Given the description of an element on the screen output the (x, y) to click on. 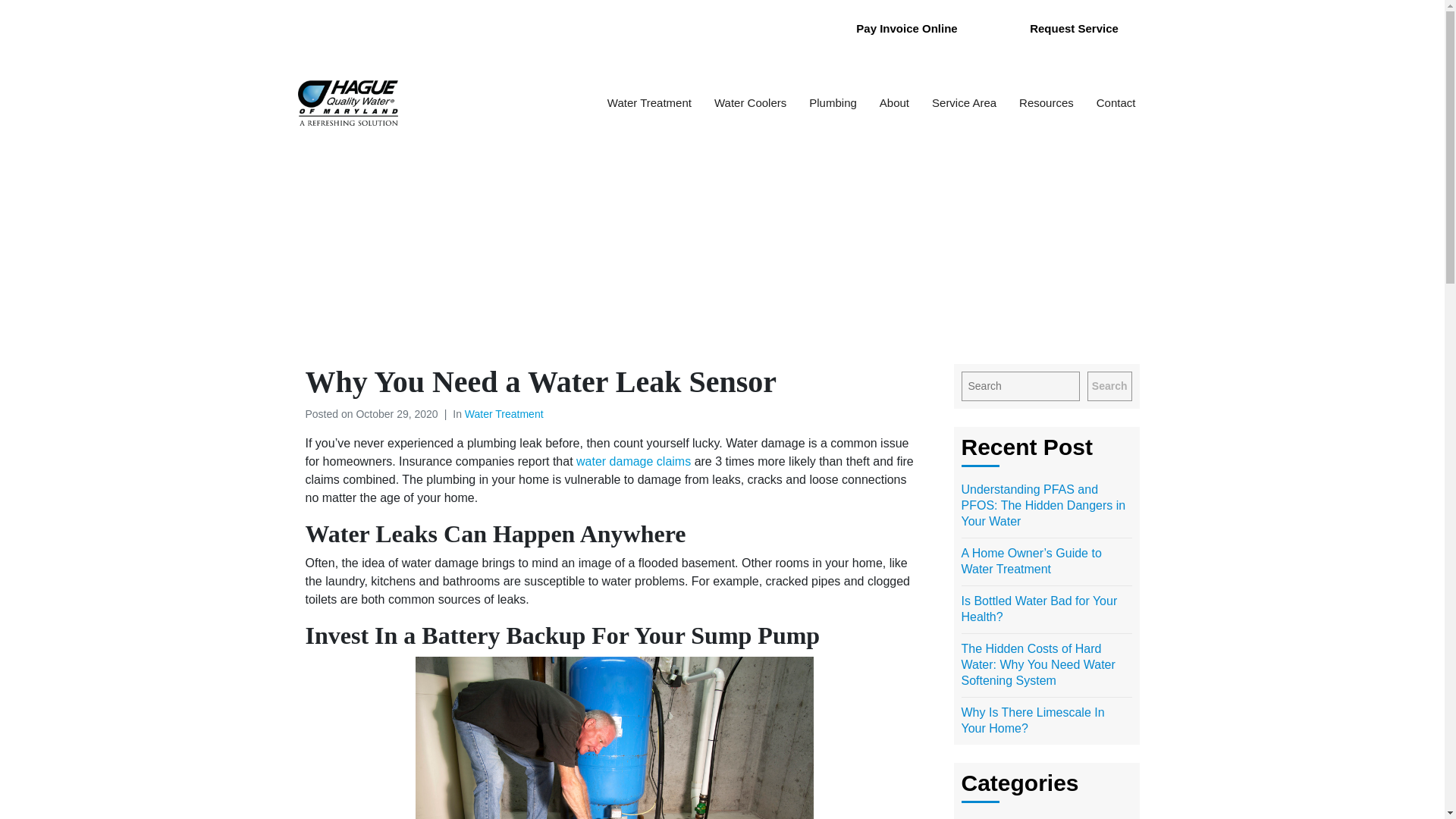
Pay Invoice Online (905, 28)
888-849-8237 (739, 28)
Water Treatment (649, 103)
Request Service (1074, 28)
